Given the description of an element on the screen output the (x, y) to click on. 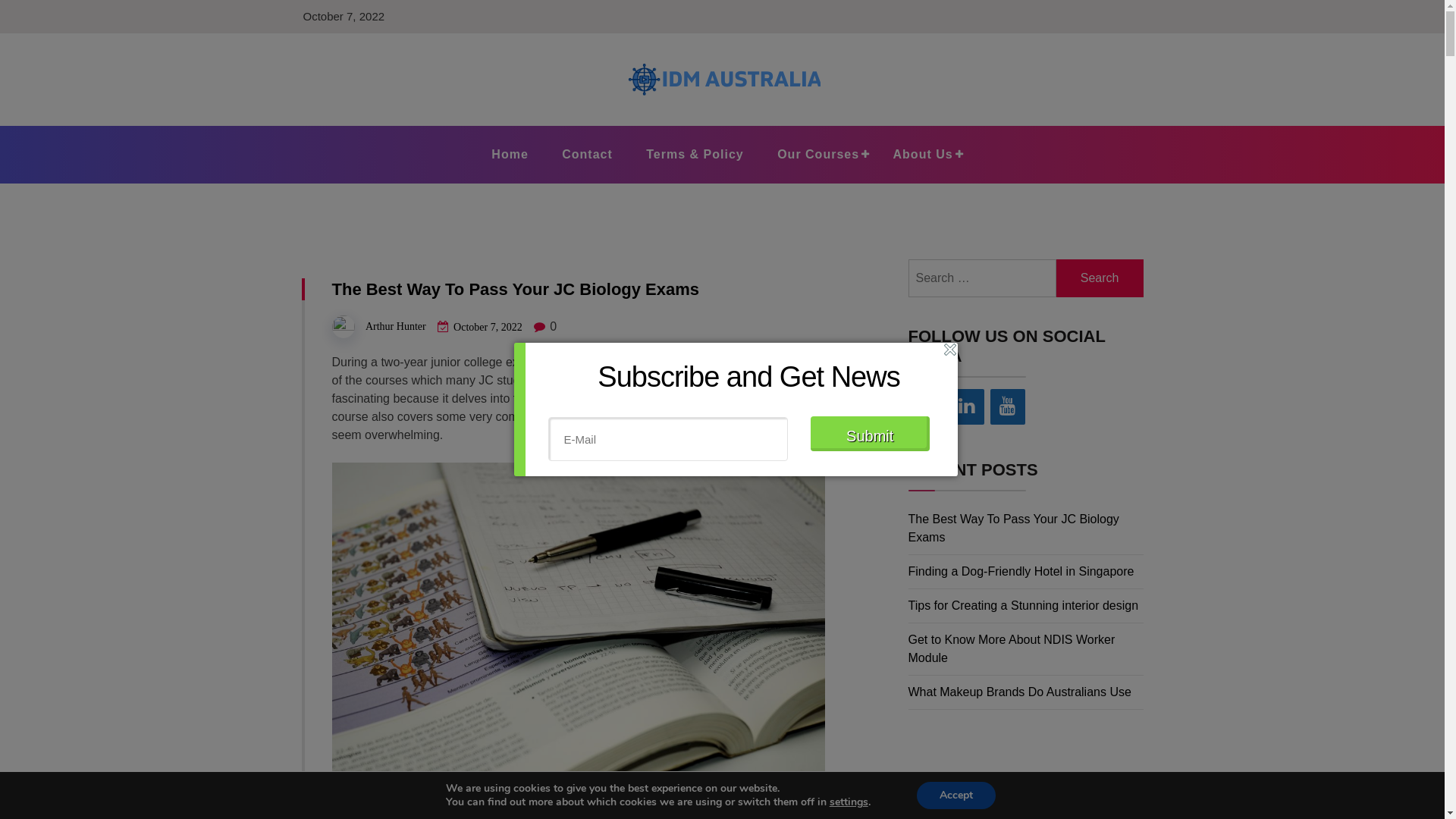
What Makeup Brands Do Australians Use Element type: text (1019, 691)
Finding a Dog-Friendly Hotel in Singapore Element type: text (1021, 570)
Accept Element type: text (955, 795)
Terms & Policy Element type: text (694, 154)
Arthur Hunter Element type: text (395, 326)
Get to Know More About NDIS Worker Module Element type: text (1011, 648)
October 7, 2022 Element type: text (487, 326)
YouTube Element type: hover (1007, 406)
Home Element type: text (509, 154)
IDM Australia Element type: text (404, 124)
Facebook Element type: hover (925, 406)
Contact Element type: text (586, 154)
The Best Way To Pass Your JC Biology Exams Element type: text (515, 288)
Tips for Creating a Stunning interior design Element type: text (1023, 605)
LinkedIn Element type: hover (966, 406)
Submit Element type: text (868, 433)
The Best Way To Pass Your JC Biology Exams Element type: text (1013, 527)
About Us Element type: text (923, 154)
Our Courses Element type: text (818, 154)
Search Element type: text (1099, 278)
settings Element type: text (848, 802)
